Given the description of an element on the screen output the (x, y) to click on. 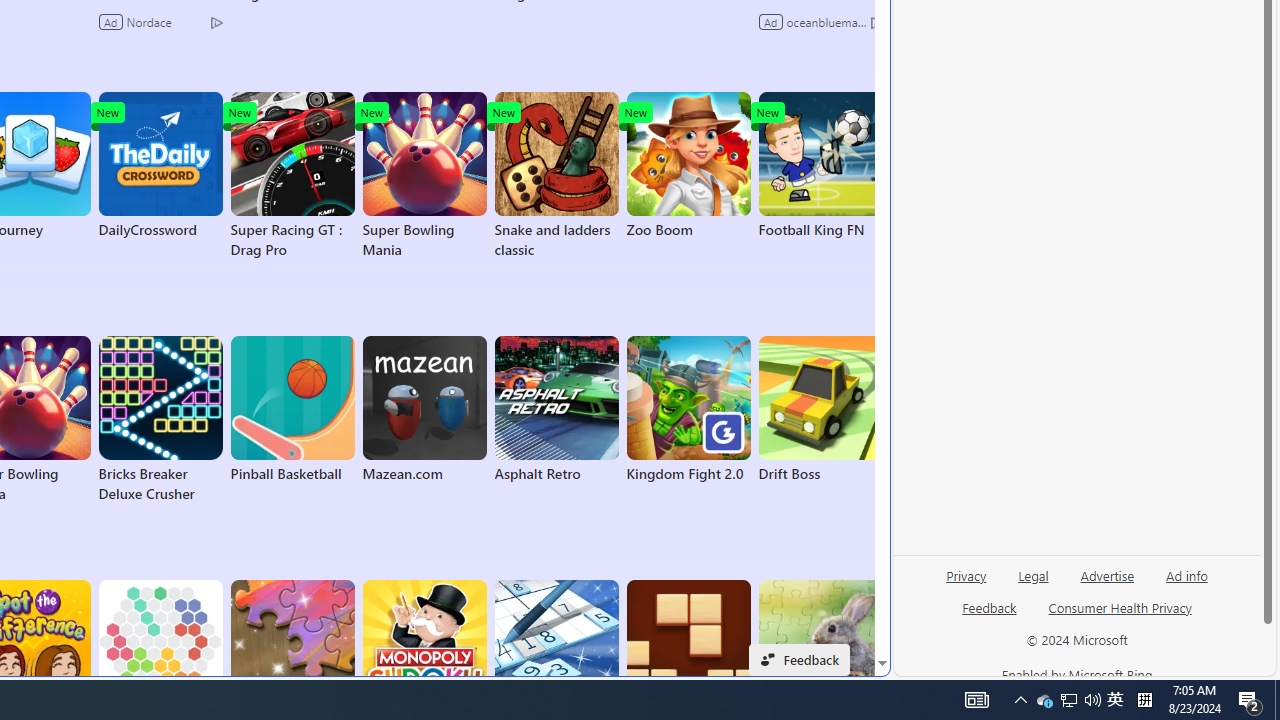
Class: ad-choice  ad-choice-mono  (876, 21)
Zoo Boom (688, 165)
Super Bowling Mania (424, 175)
Football King FN (820, 165)
Asphalt Retro (556, 409)
